Given the description of an element on the screen output the (x, y) to click on. 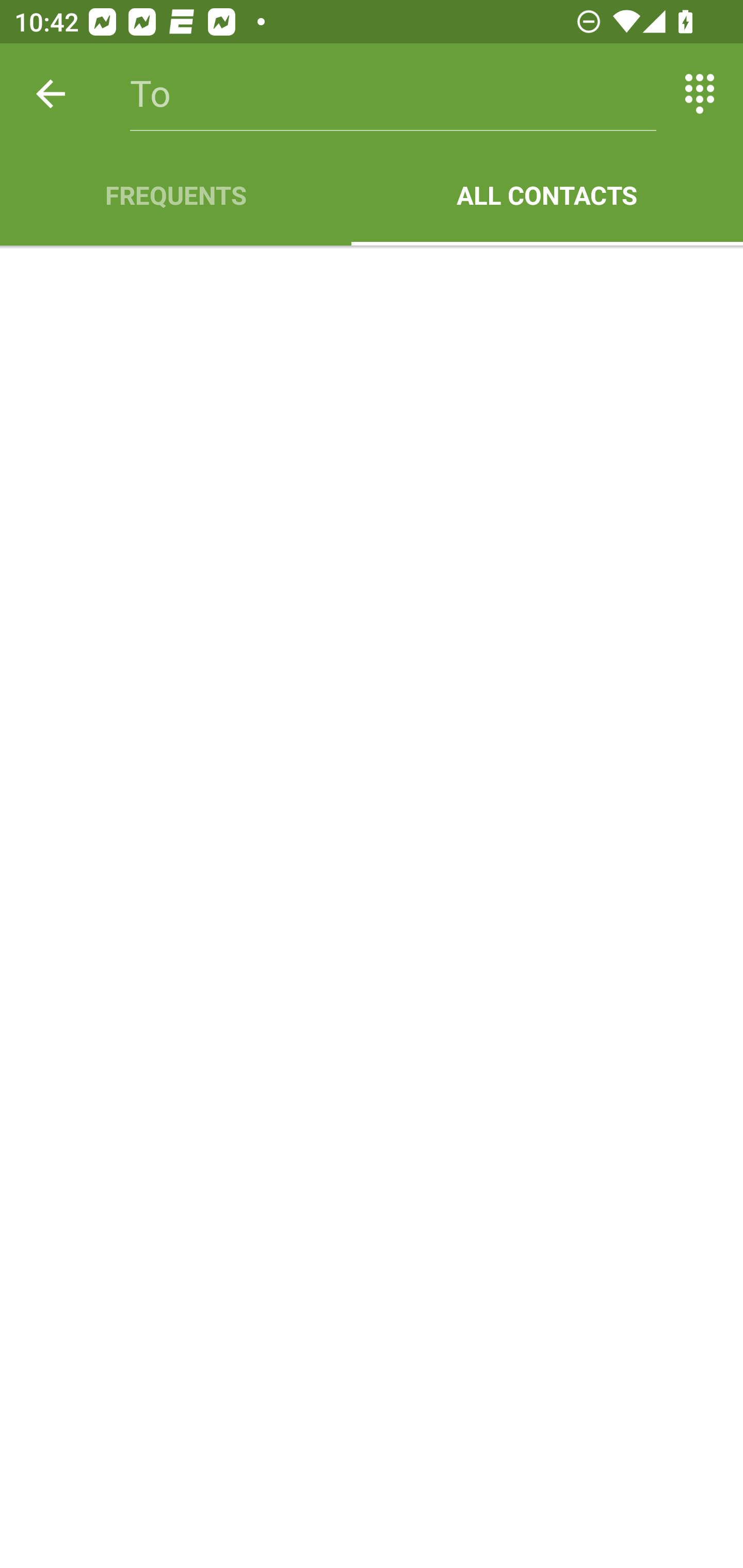
Back (50, 93)
Switch between entering text and numbers (699, 93)
To (393, 93)
FREQUENTS (175, 195)
ALL CONTACTS (547, 195)
